Given the description of an element on the screen output the (x, y) to click on. 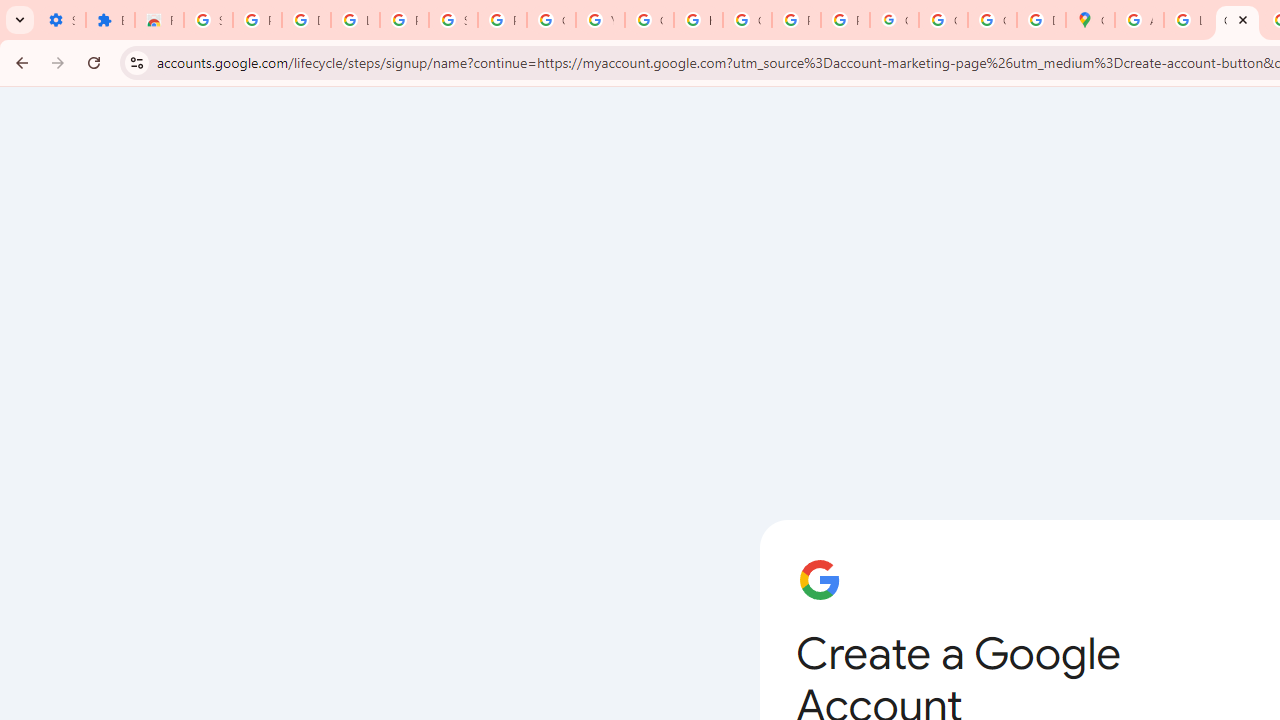
Delete photos & videos - Computer - Google Photos Help (306, 20)
Settings - On startup (61, 20)
